Given the description of an element on the screen output the (x, y) to click on. 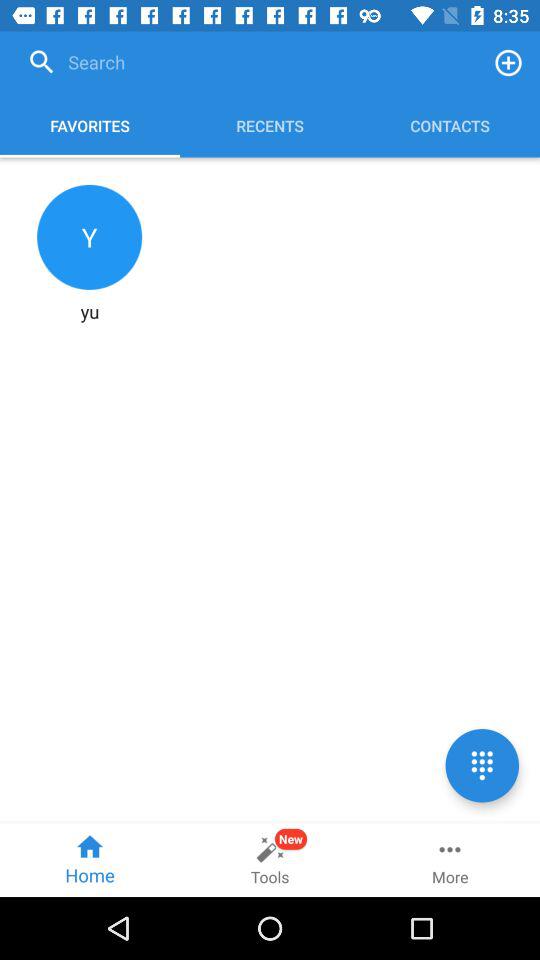
open item below the contacts icon (482, 765)
